Given the description of an element on the screen output the (x, y) to click on. 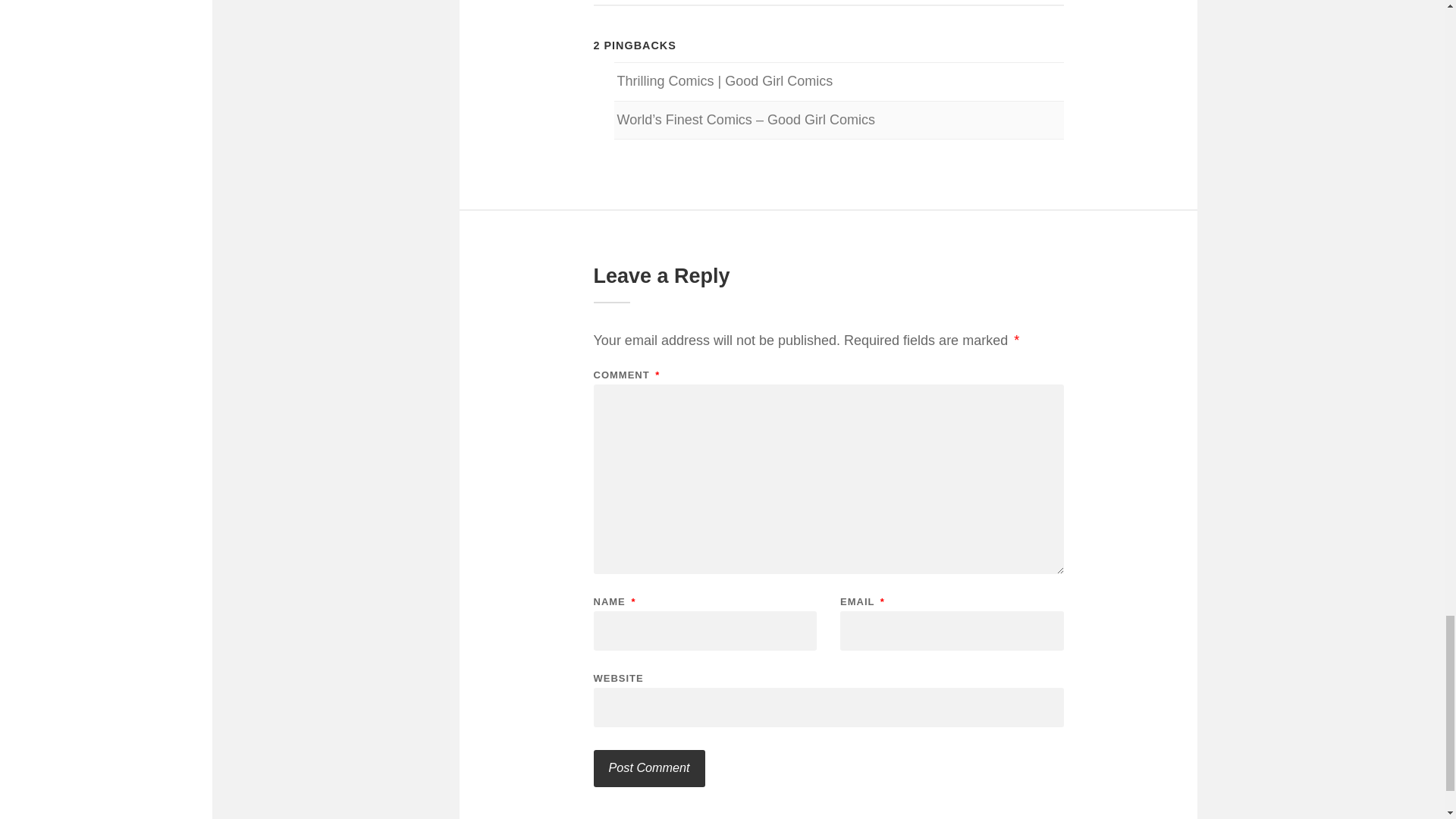
Post Comment (648, 768)
